Given the description of an element on the screen output the (x, y) to click on. 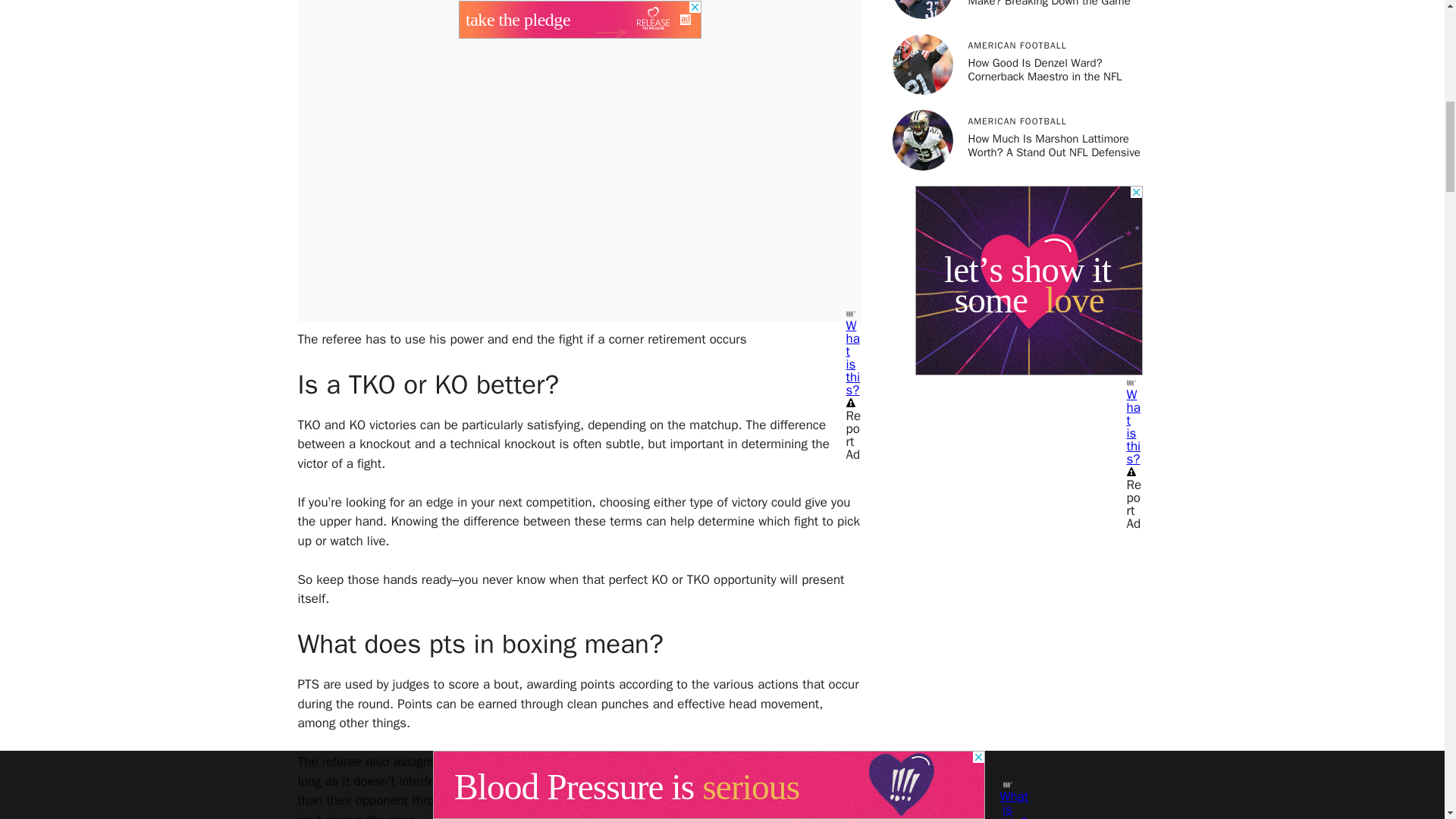
3rd party ad content (1027, 280)
3rd party ad content (579, 12)
